Given the description of an element on the screen output the (x, y) to click on. 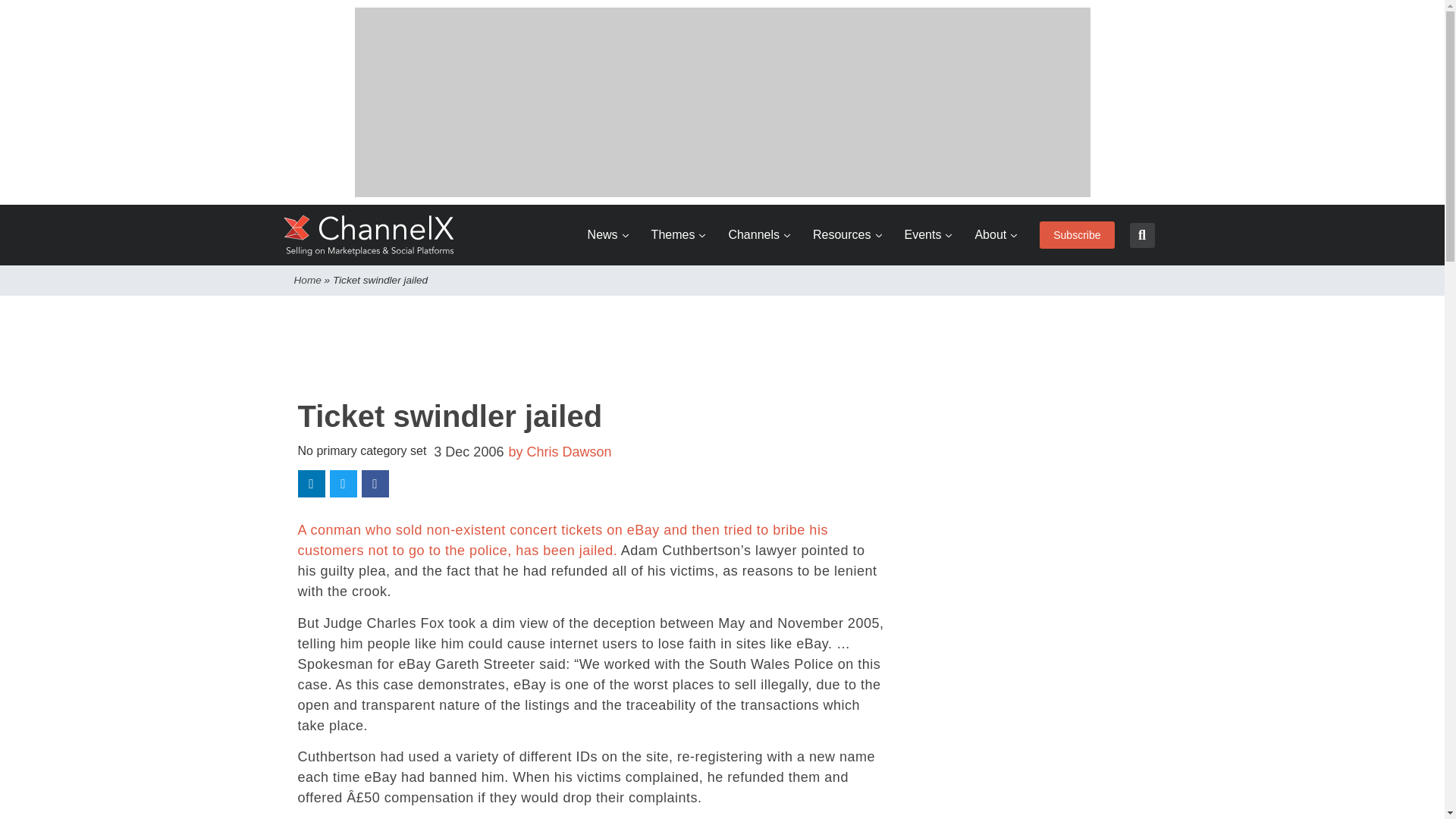
News (607, 234)
ChannelX Home Page (369, 234)
Themes (678, 234)
Channels (758, 234)
